Given the description of an element on the screen output the (x, y) to click on. 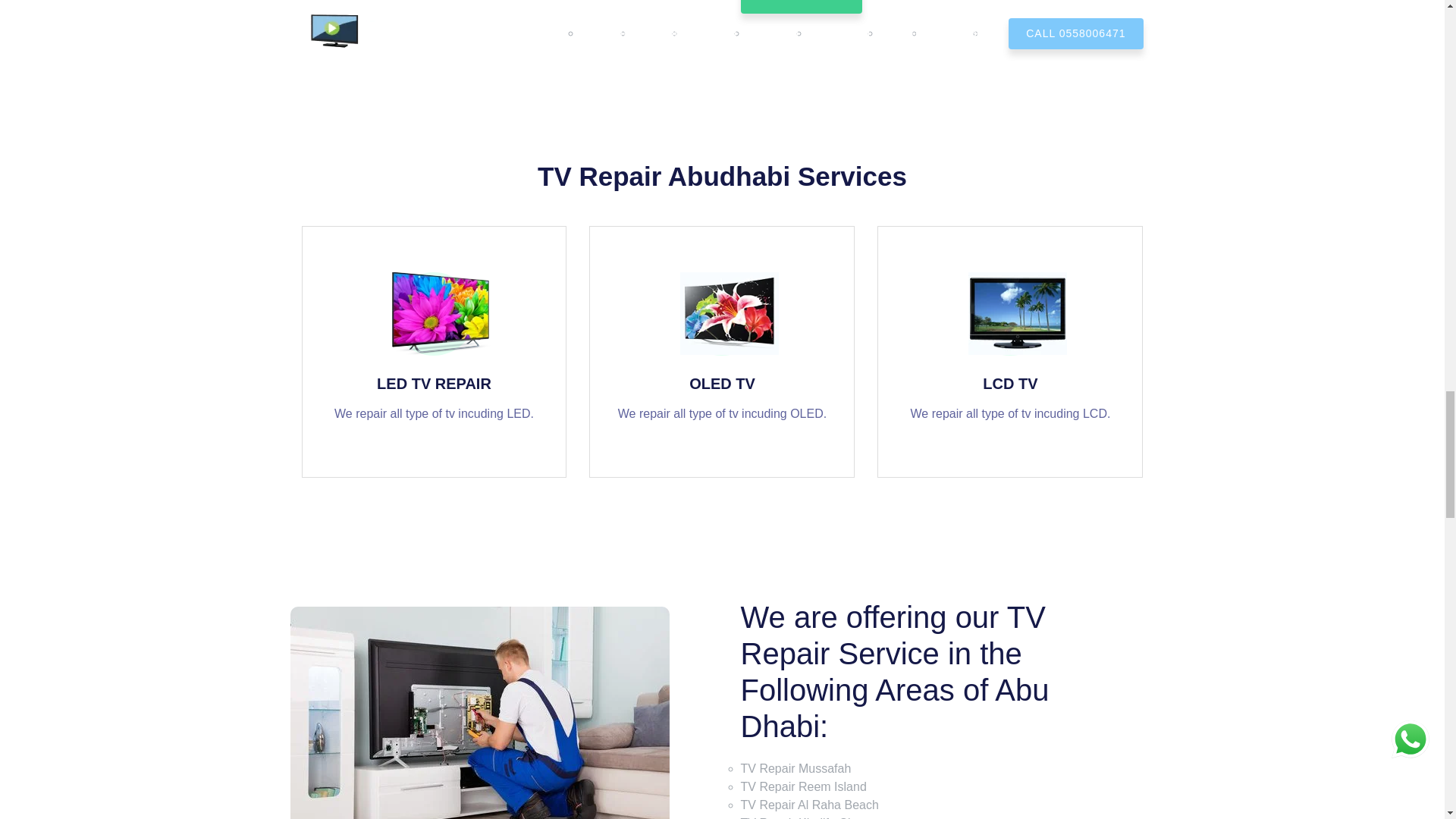
CONTACT US (800, 6)
